Given the description of an element on the screen output the (x, y) to click on. 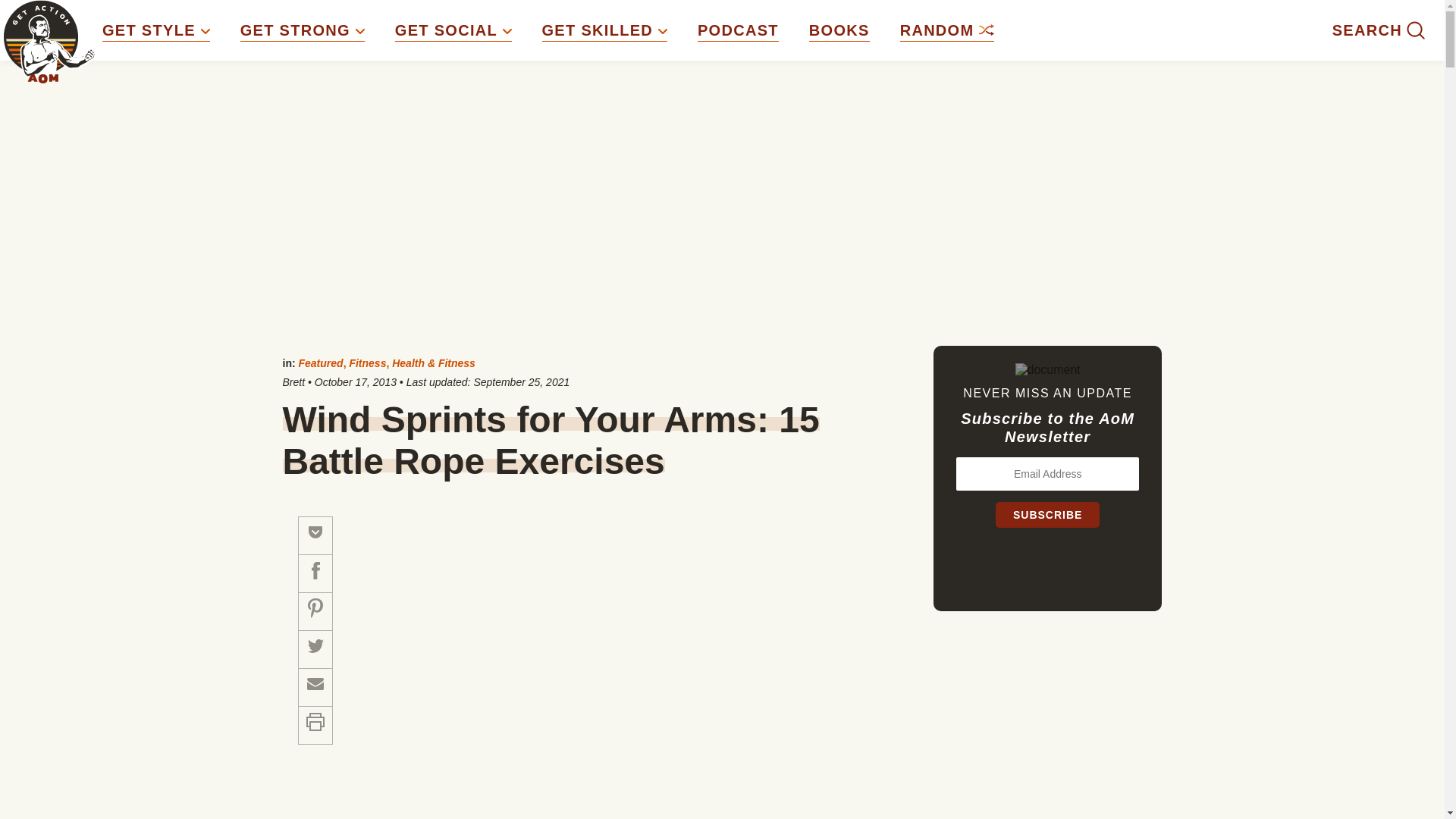
GET STRONG (302, 30)
GET STYLE (155, 30)
RANDOM (946, 30)
GET SKILLED (603, 30)
BOOKS (839, 30)
GET SOCIAL (453, 30)
PODCAST (737, 30)
Subscribe (1047, 514)
